Given the description of an element on the screen output the (x, y) to click on. 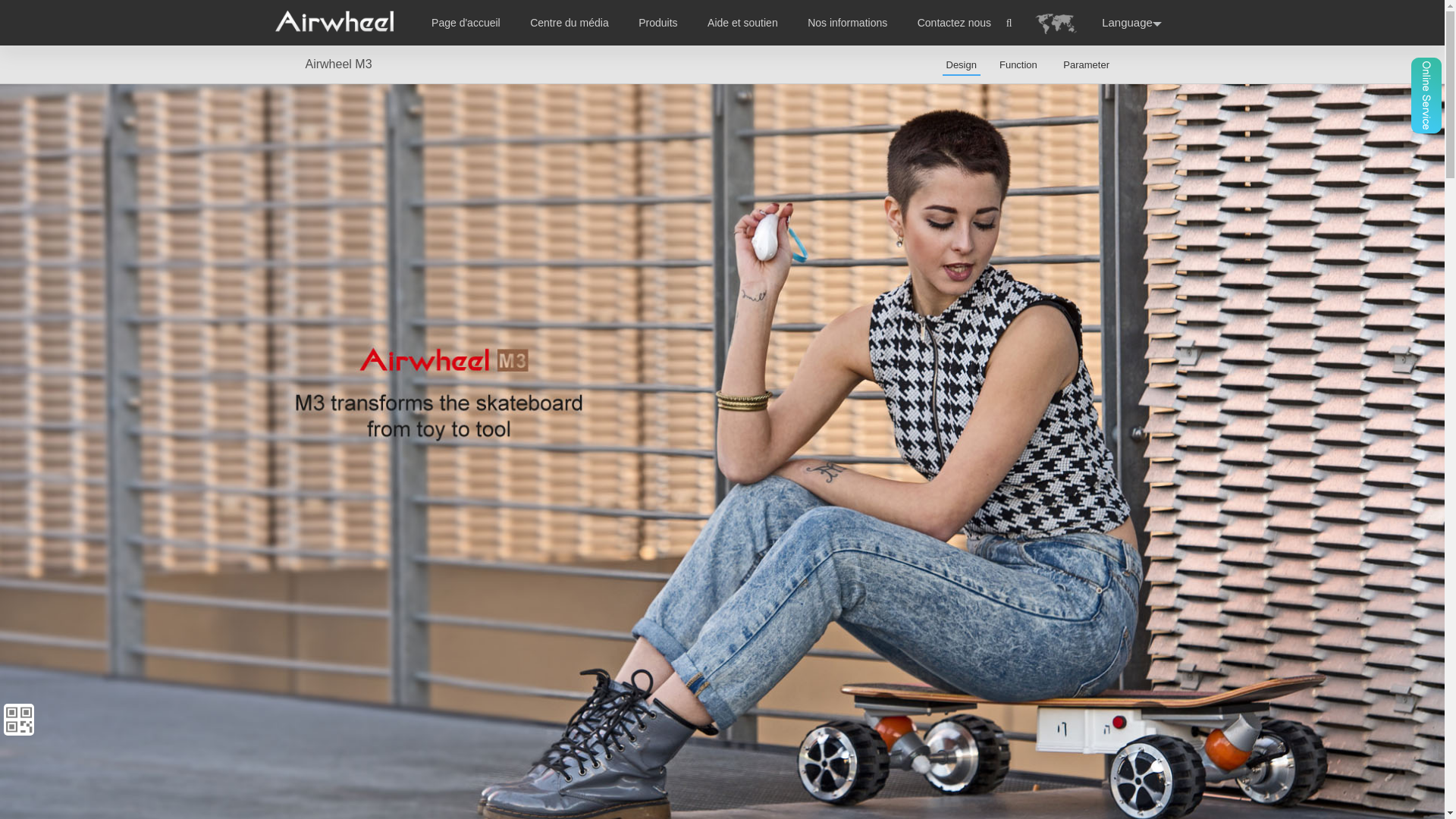
Produits (658, 22)
Aide et soutien (742, 22)
Contactez nous (954, 22)
Page d'accueil (465, 22)
